Given the description of an element on the screen output the (x, y) to click on. 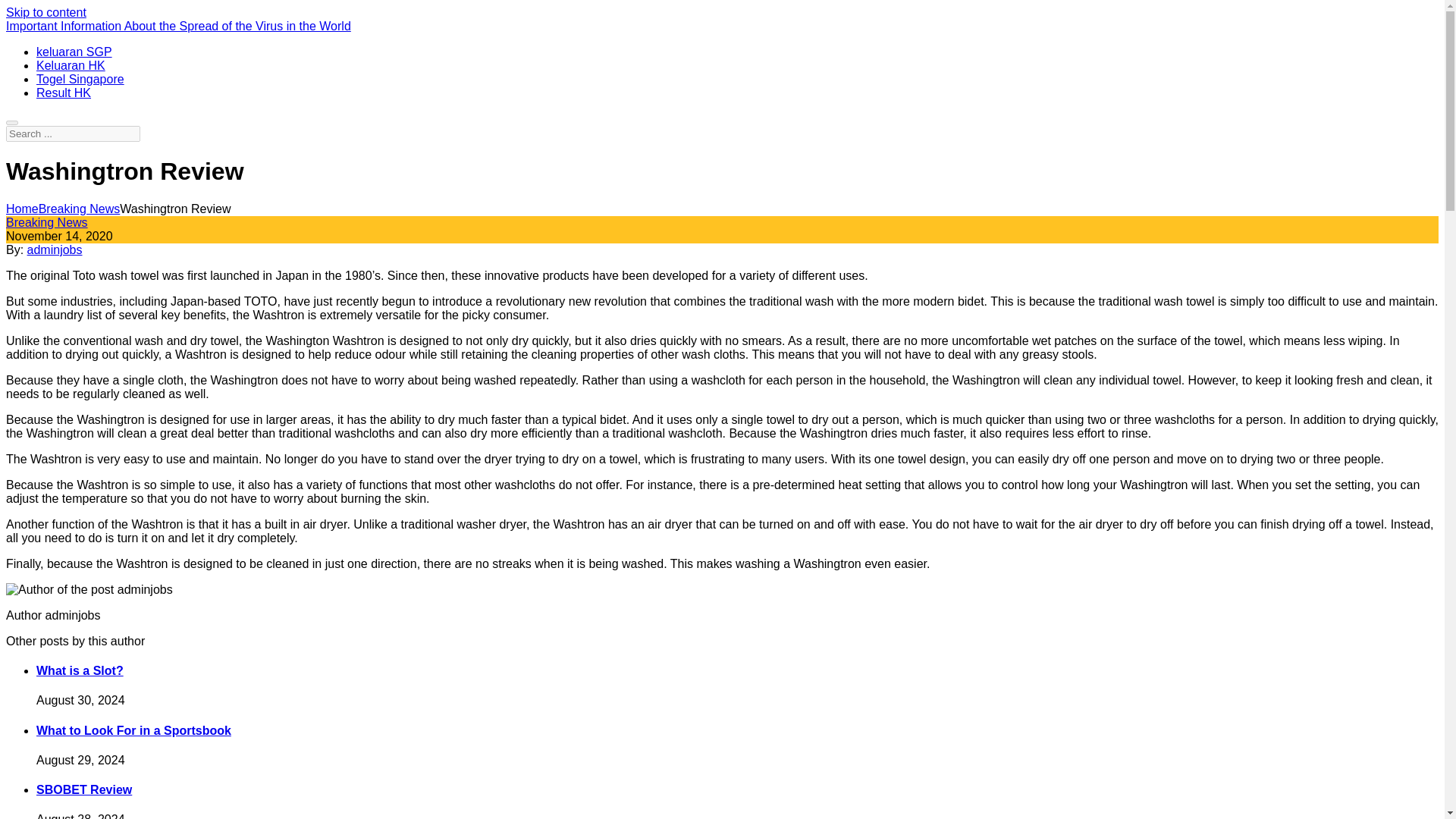
SBOBET Review (84, 789)
What to Look For in a Sportsbook (133, 730)
keluaran SGP (74, 51)
Breaking News (79, 208)
Breaking News (46, 222)
adminjobs (54, 249)
Skip to content (45, 11)
Keluaran HK (70, 65)
What is a Slot? (79, 670)
Home (22, 208)
